Given the description of an element on the screen output the (x, y) to click on. 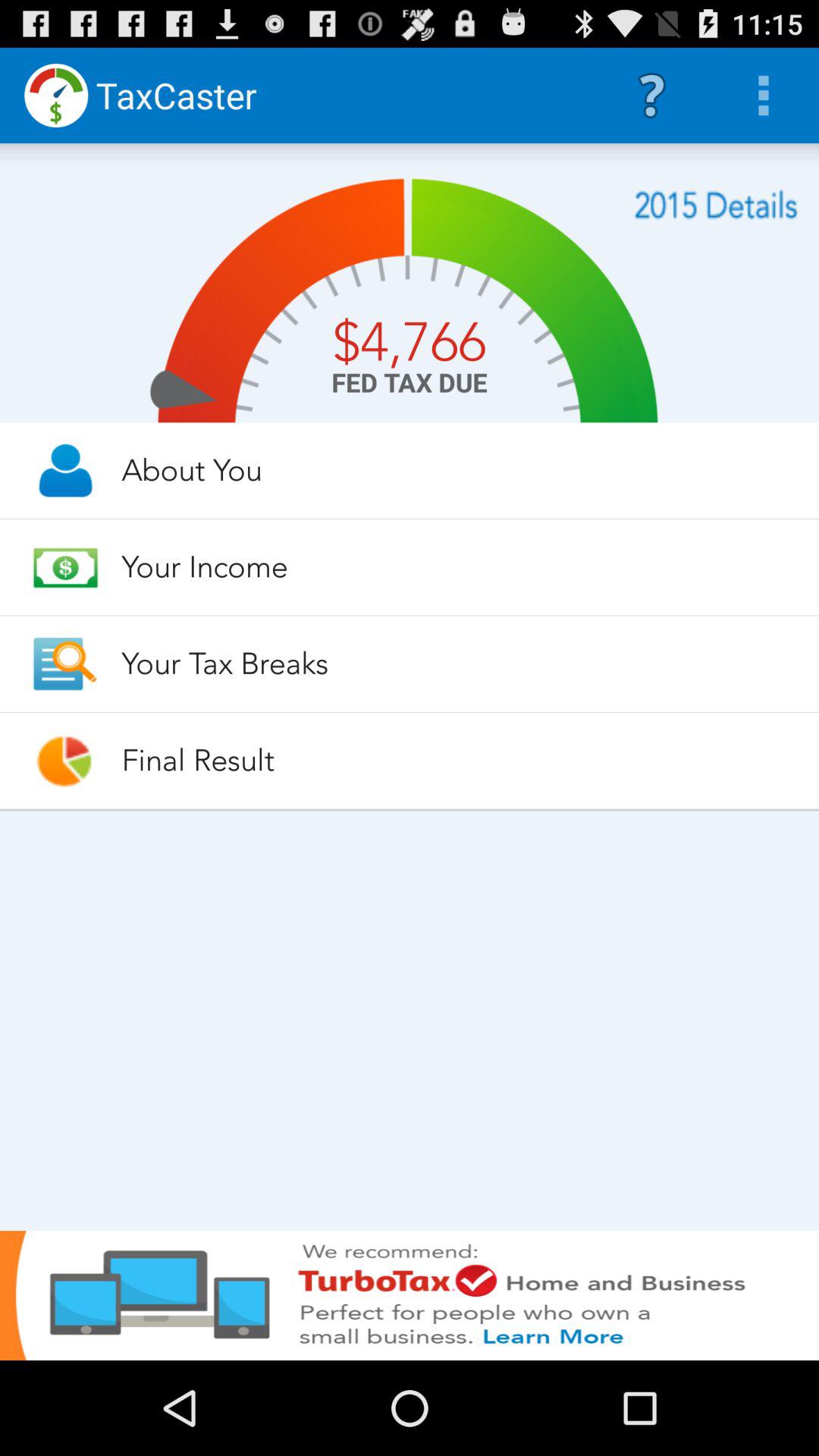
flip until final result icon (456, 760)
